Given the description of an element on the screen output the (x, y) to click on. 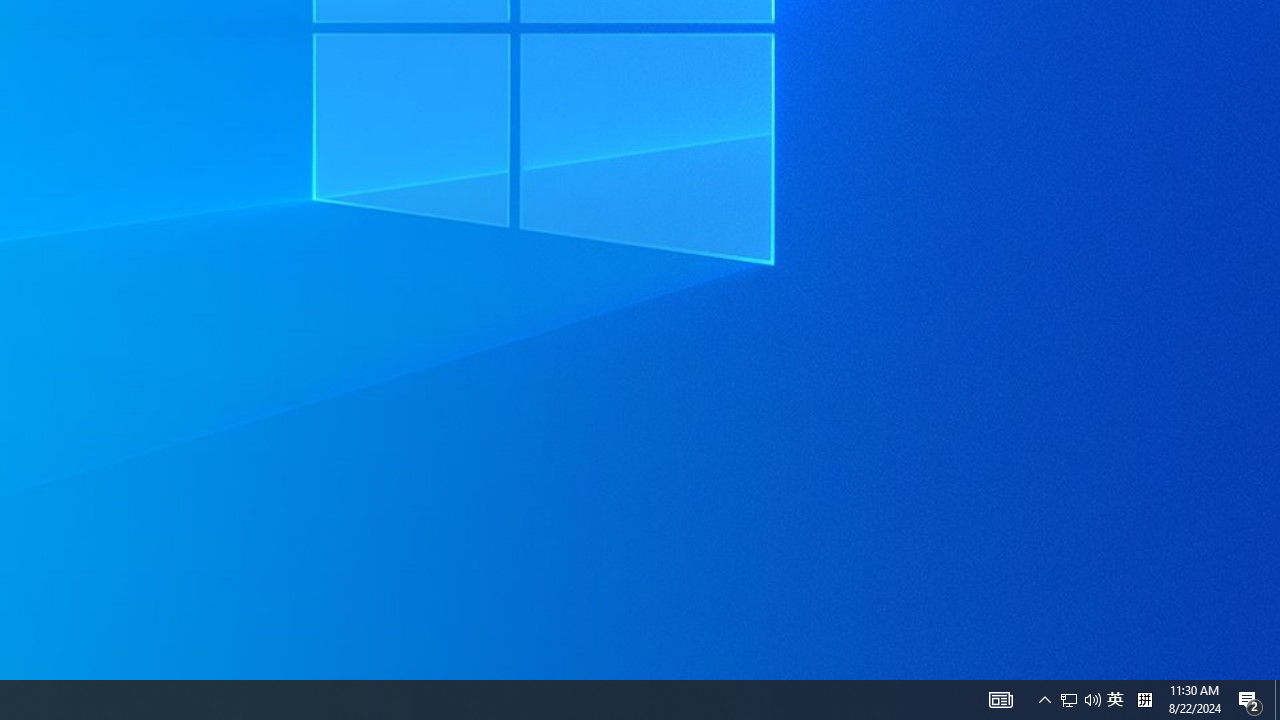
User Promoted Notification Area (1080, 699)
Show desktop (1277, 699)
Notification Chevron (1044, 699)
Tray Input Indicator - Chinese (Simplified, China) (1144, 699)
Q2790: 100% (1092, 699)
Action Center, 2 new notifications (1250, 699)
AutomationID: 4105 (1000, 699)
